Given the description of an element on the screen output the (x, y) to click on. 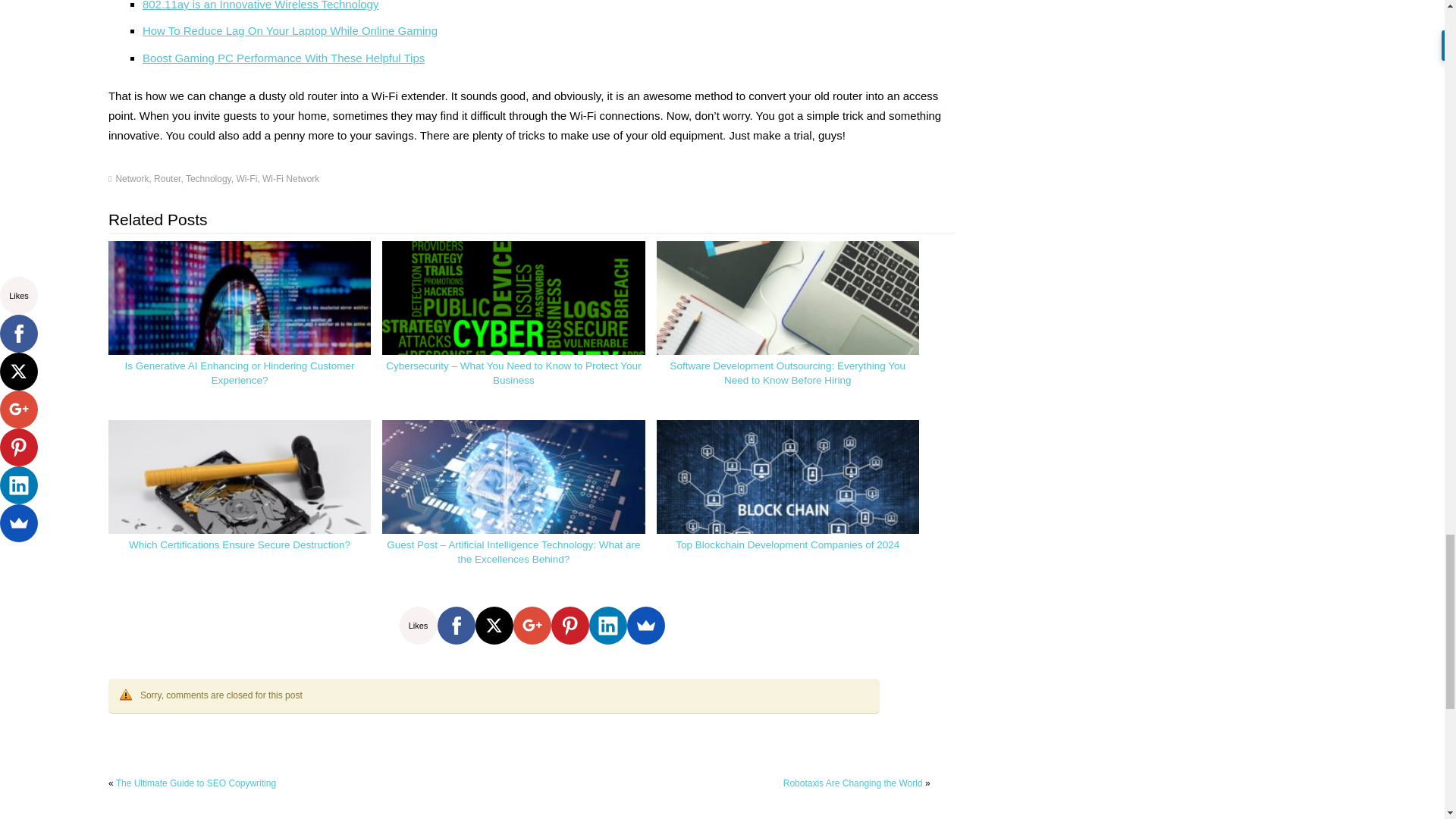
802.11ay is an Innovative Wireless Technology (260, 5)
How To Reduce Lag On Your Laptop While Online Gaming (290, 30)
Is Generative AI Enhancing or Hindering Customer Experience? (238, 372)
Is Generative AI Enhancing or Hindering Customer Experience? (239, 328)
